Given the description of an element on the screen output the (x, y) to click on. 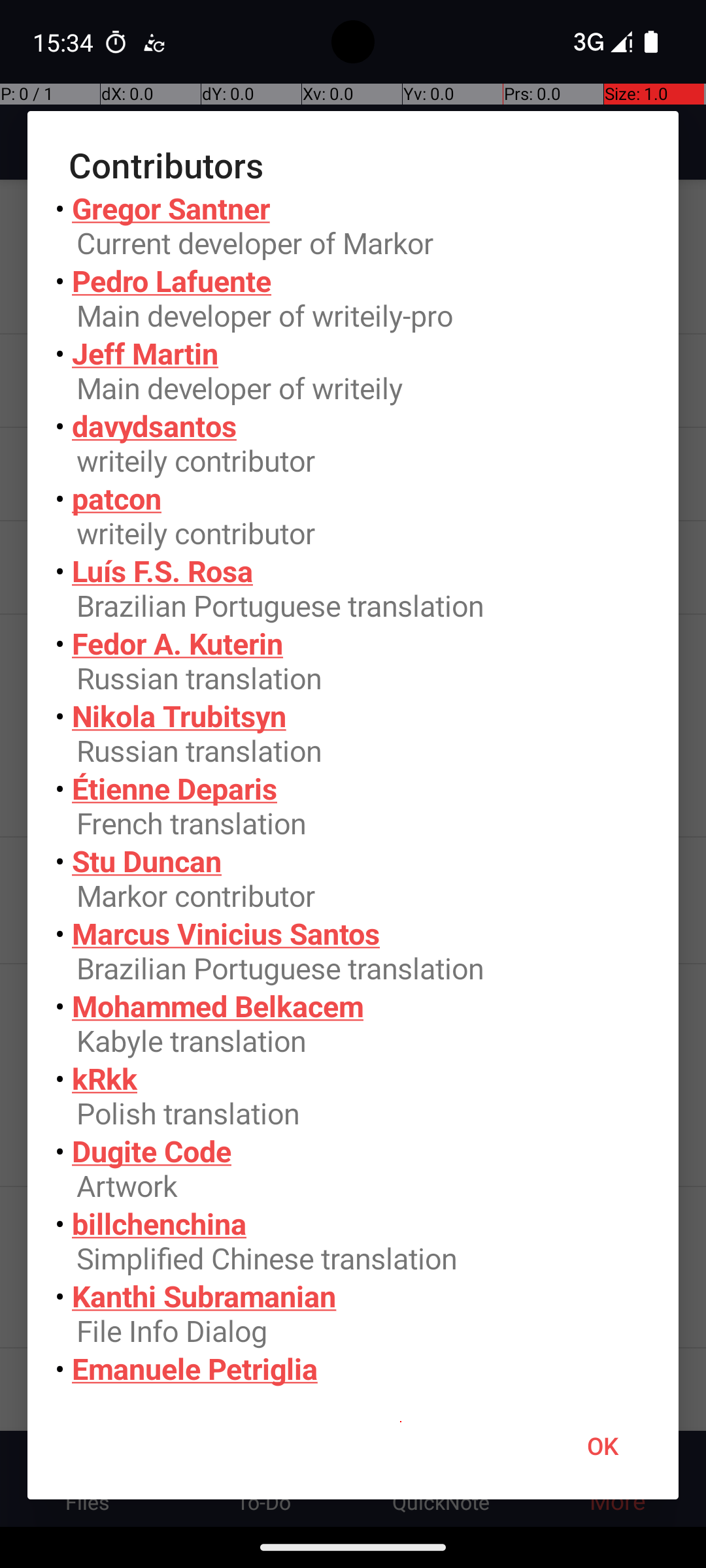
• Gregor Santner
   Current developer of Markor
• Pedro Lafuente
   Main developer of writeily-pro
• Jeff Martin
   Main developer of writeily
• davydsantos
   writeily contributor
• patcon
   writeily contributor
• Luís F.S. Rosa
   Brazilian Portuguese translation
• Fedor A. Kuterin
   Russian translation
• Nikola Trubitsyn
   Russian translation
• Étienne Deparis
   French translation
• Stu Duncan
   Markor contributor
• Marcus Vinicius Santos
   Brazilian Portuguese translation
• Mohammed Belkacem
   Kabyle translation
• kRkk
   Polish translation
• Dugite Code
   Artwork
• billchenchina
   Simplified Chinese translation
• Kanthi Subramanian
   File Info Dialog
• Emanuele Petriglia
   Italian translation
• Tiago Danin
   Brazilian Portuguese translation
• Jesica Chu
   Spanish and Traiditonal Chinese translation
• Ankush S Shetkar
   Added Chrome custom tabs for urls
• Lars Pontoppidan
   Danish translation
• Amaya Lim
   Improve project description
• Jawkwon Im
   Add keep screen on
• Mark Goldman
   Added sorting for todo.txt, improved wiki
• natanelho
   Hebrew translation
• Alexander Sachse
   Added simple word counter
• Kyle Phelps
   Added functionality to share multiple files from file browser
• Vladislav Glinsky
   Ukrainian/Russian translations
• David Hebbeker
   Added tooltips for text actions.
• Harshad Srinivasan
   Added functionality to handle leading spaces in lists.
• Niels
   Added encryption for textfile contents.
• Helguli
   Added fast scroll to editor.
• Patricia Heimfarth
   Added checkbox for todo completion date
• Peter Schwede
   Added Zim-Wiki support.
• Frederic Jacob
   Added Zim-Wiki highlighting, text actions, view mode, page creation.
• Winston Feng
   Support spaces in URL.
• k3b
   Added CSV-Support.
 Element type: android.widget.TextView (352, 790)
